Given the description of an element on the screen output the (x, y) to click on. 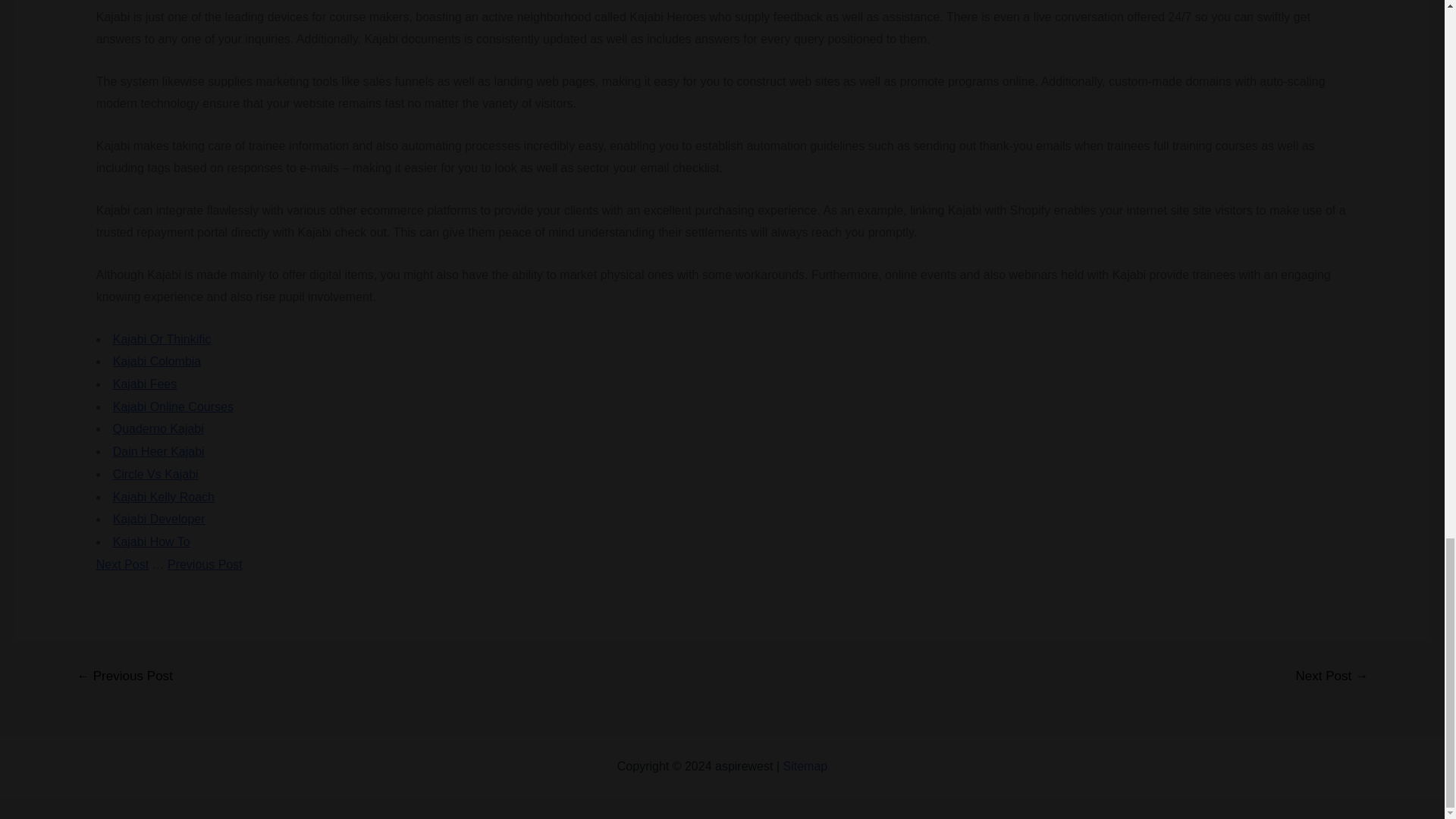
Circle Vs Kajabi (155, 473)
Previous Post (205, 563)
Quaderno Kajabi (158, 428)
Kajabi Online Courses (172, 406)
Circle Vs Kajabi (155, 473)
Kajabi Kelly Roach (163, 496)
Next Post (122, 563)
Kajabi Or Thinkific (162, 338)
Kajabi Fees (145, 383)
Dain Heer Kajabi (159, 451)
